Given the description of an element on the screen output the (x, y) to click on. 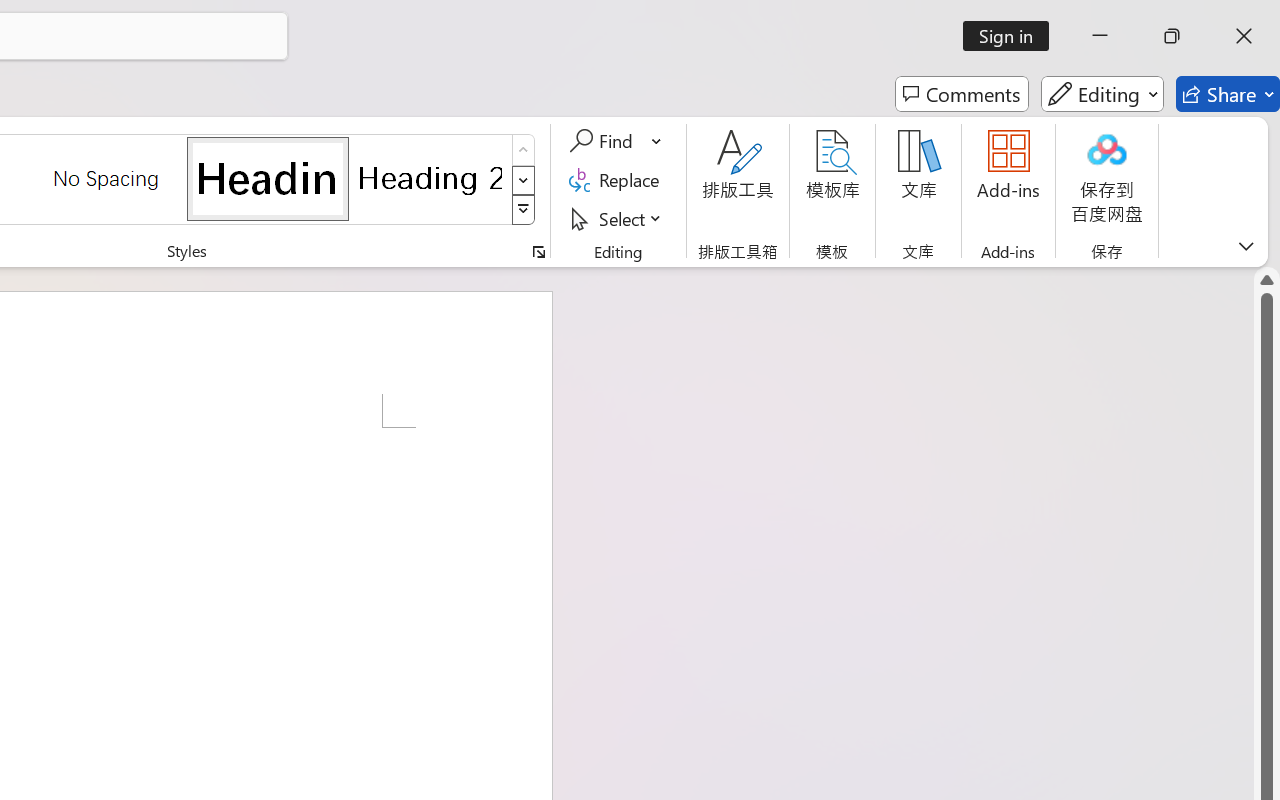
Line up (1267, 279)
